Given the description of an element on the screen output the (x, y) to click on. 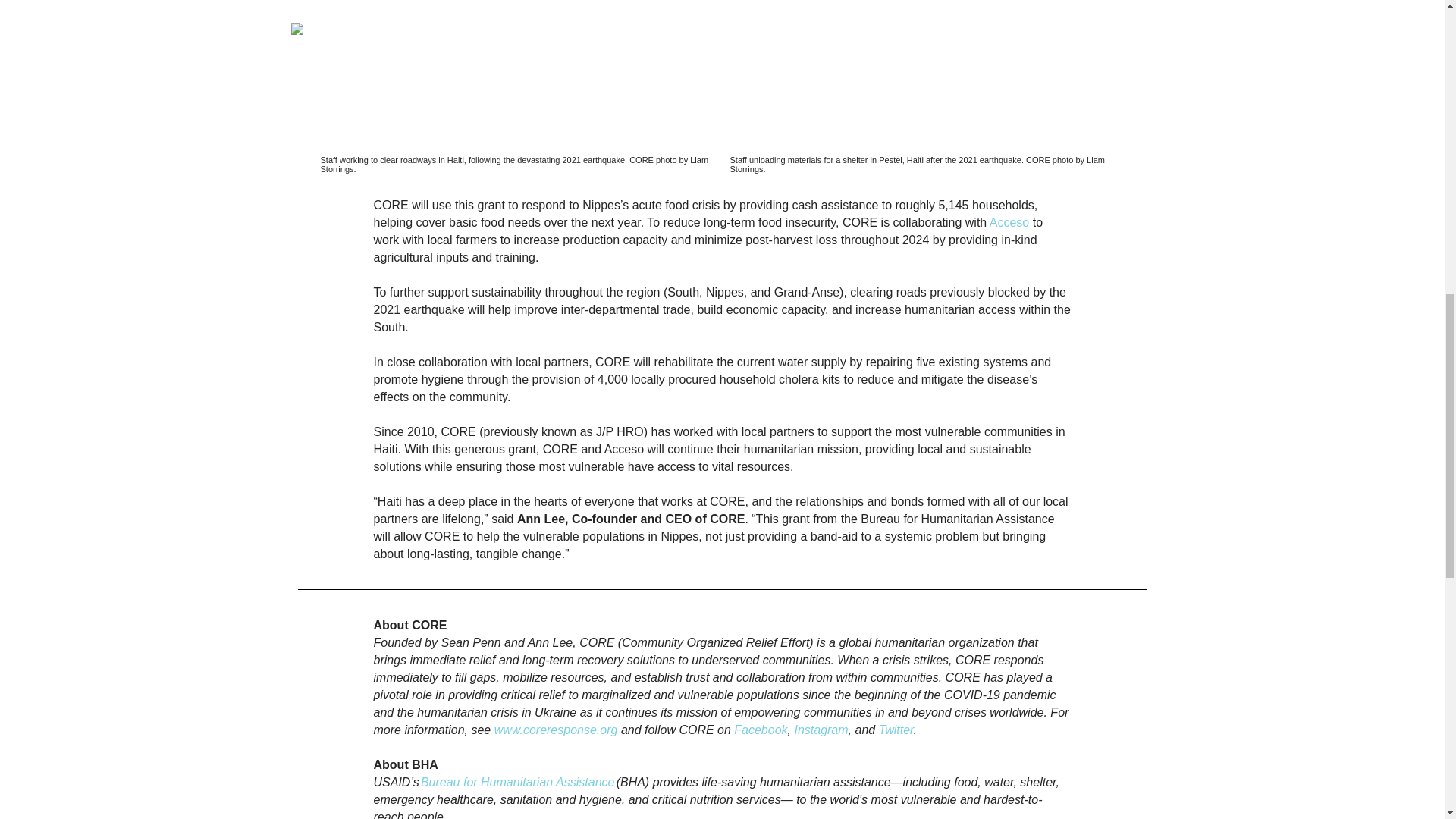
Instagram (820, 729)
Facebook (760, 729)
Bureau for Humanitarian Assistance (517, 781)
www.coreresponse.org (556, 729)
Acceso (1009, 222)
Twitter (896, 729)
